Given the description of an element on the screen output the (x, y) to click on. 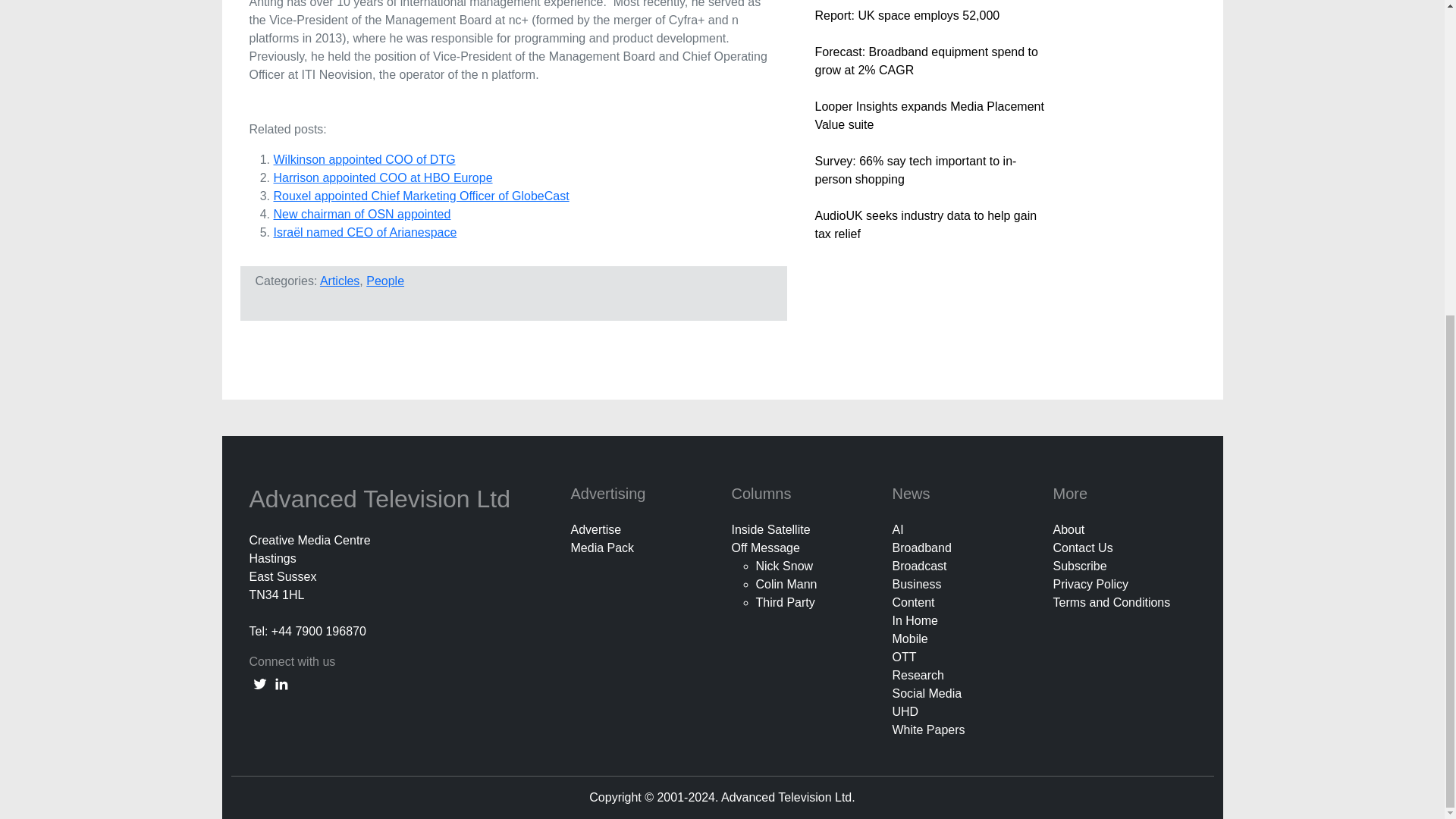
Rouxel appointed Chief Marketing Officer of GlobeCast (421, 195)
Wilkinson appointed COO of DTG (363, 159)
Articles (339, 280)
Inside Satellite (769, 529)
Looper Insights expands Media Placement Value suite (928, 115)
Off Message (764, 547)
People (385, 280)
Harrison appointed COO at HBO Europe (382, 177)
Harrison appointed COO at HBO Europe (382, 177)
New chairman of OSN appointed (361, 214)
Advertise (595, 529)
Advanced Television Ltd  (382, 498)
Report: UK space employs 52,000 (905, 15)
Media Pack (601, 547)
New chairman of OSN appointed (361, 214)
